Given the description of an element on the screen output the (x, y) to click on. 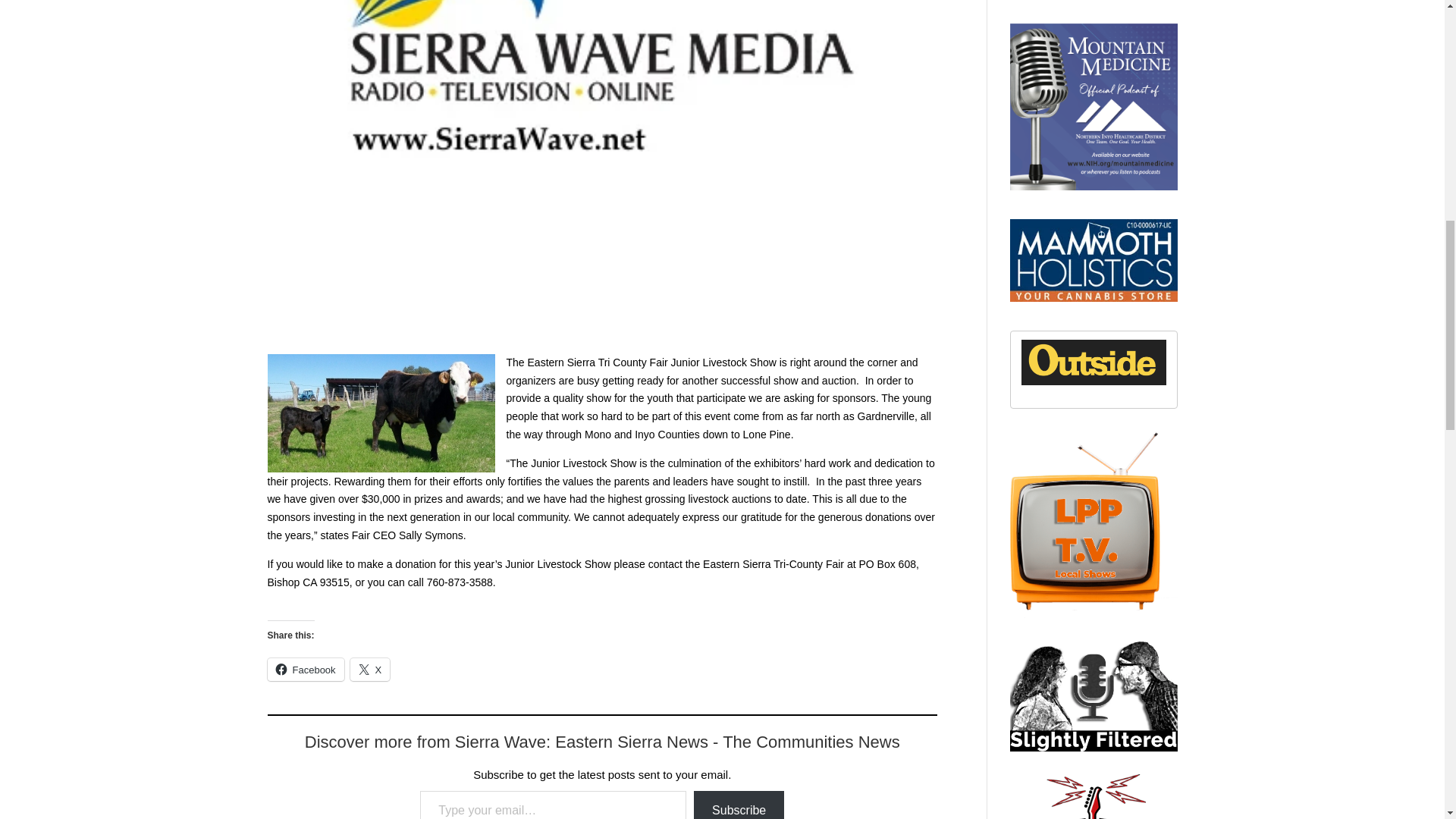
X (370, 669)
Subscribe (739, 805)
Click to share on X (370, 669)
Click to share on Facebook (304, 669)
Facebook (304, 669)
